Given the description of an element on the screen output the (x, y) to click on. 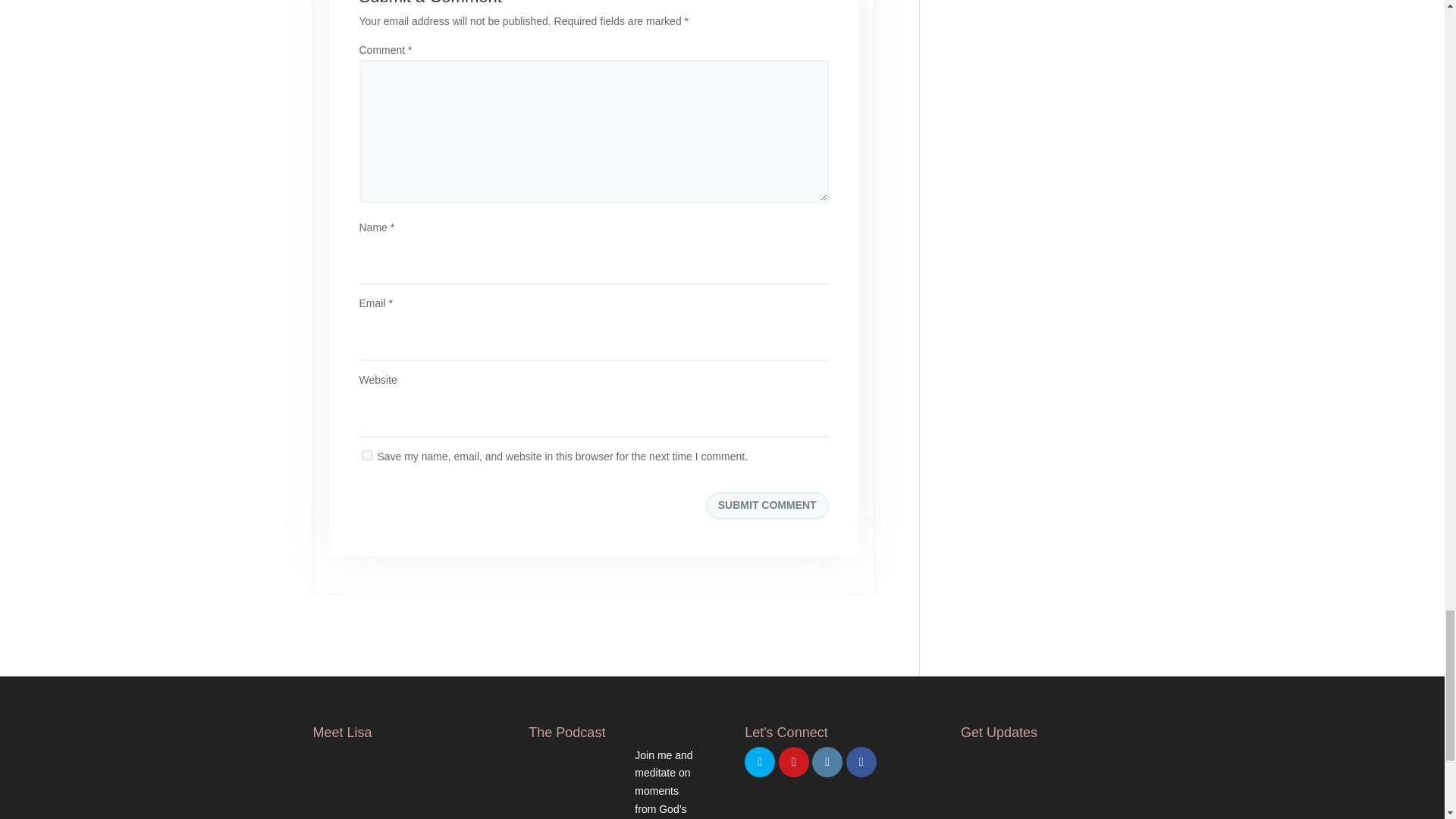
Submit Comment (767, 505)
Submit Comment (767, 505)
yes (367, 455)
